Given the description of an element on the screen output the (x, y) to click on. 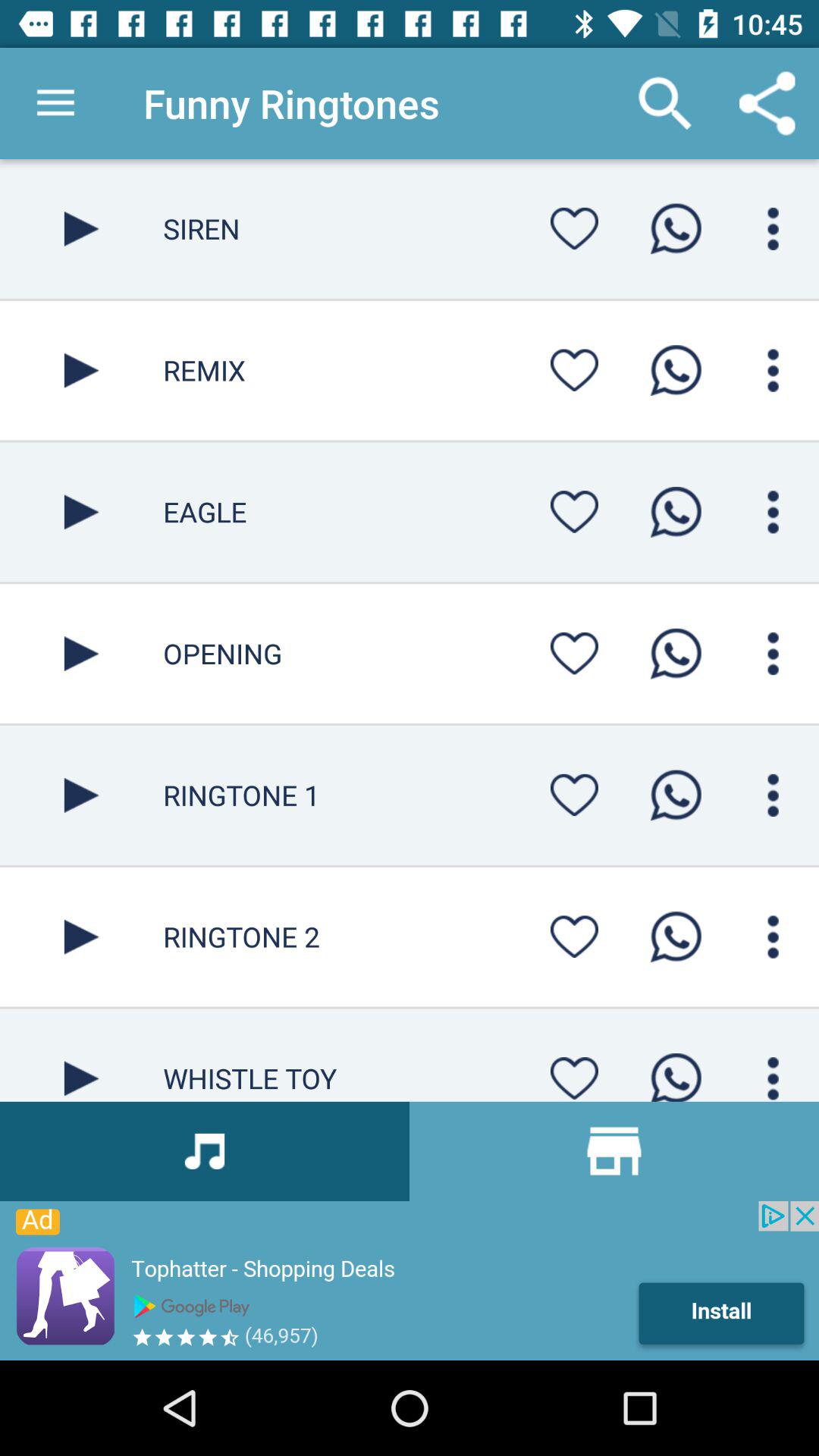
play button (81, 228)
